Given the description of an element on the screen output the (x, y) to click on. 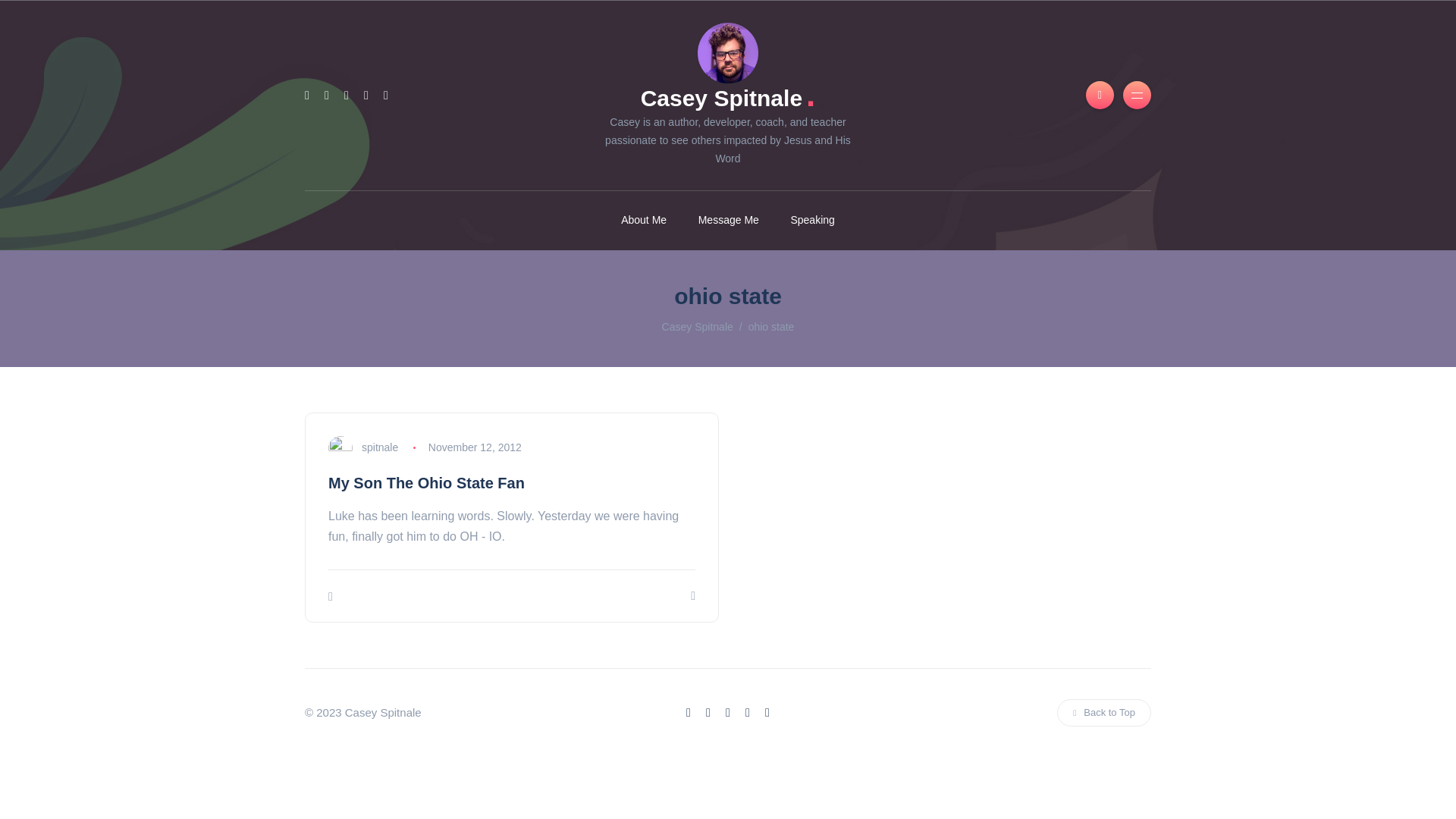
About Me (643, 220)
Go to Casey Spitnale. (697, 326)
Casey Spitnale (697, 326)
My Son The Ohio State Fan (426, 483)
Message Me (728, 220)
Casey Spitnale. (727, 96)
Posts by spitnale (379, 447)
spitnale (379, 447)
Speaking (812, 220)
Back to Top (1104, 712)
